Given the description of an element on the screen output the (x, y) to click on. 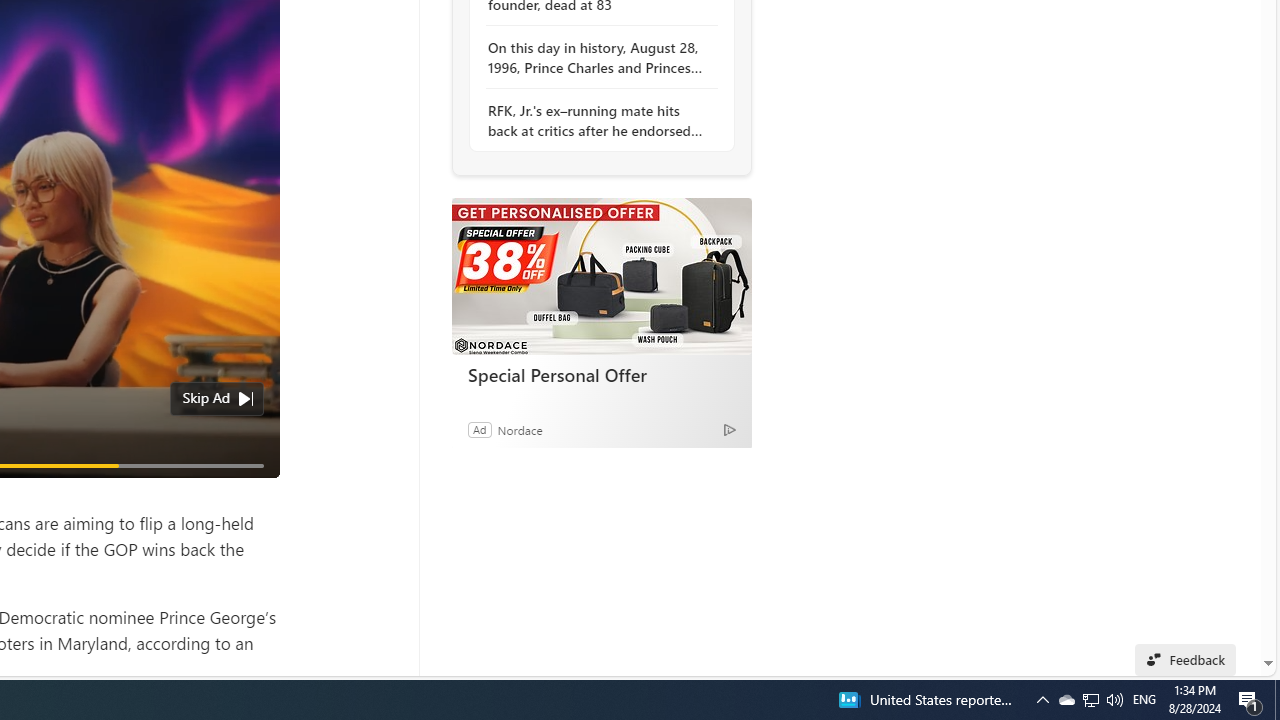
Special Personal Offer (601, 276)
Skip Ad (205, 398)
Ad (479, 429)
Feedback (1185, 659)
Unmute (253, 489)
Special Personal Offer (601, 374)
Ad Choice (729, 429)
